Given the description of an element on the screen output the (x, y) to click on. 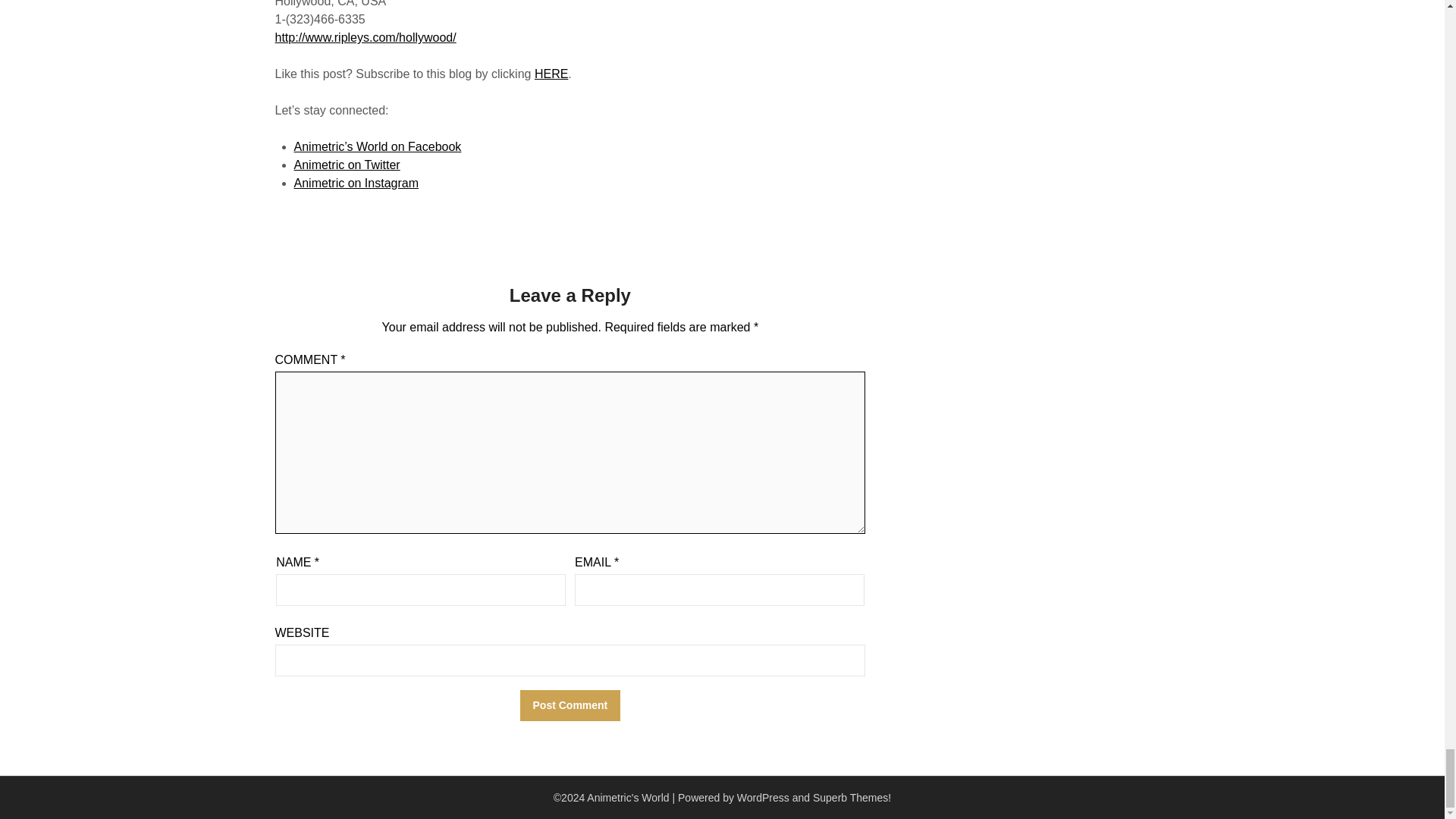
HERE (550, 73)
Animetric on Instagram (356, 182)
Superb Themes! (851, 797)
Post Comment (570, 705)
Animetric on Twitter (347, 164)
Post Comment (570, 705)
